Given the description of an element on the screen output the (x, y) to click on. 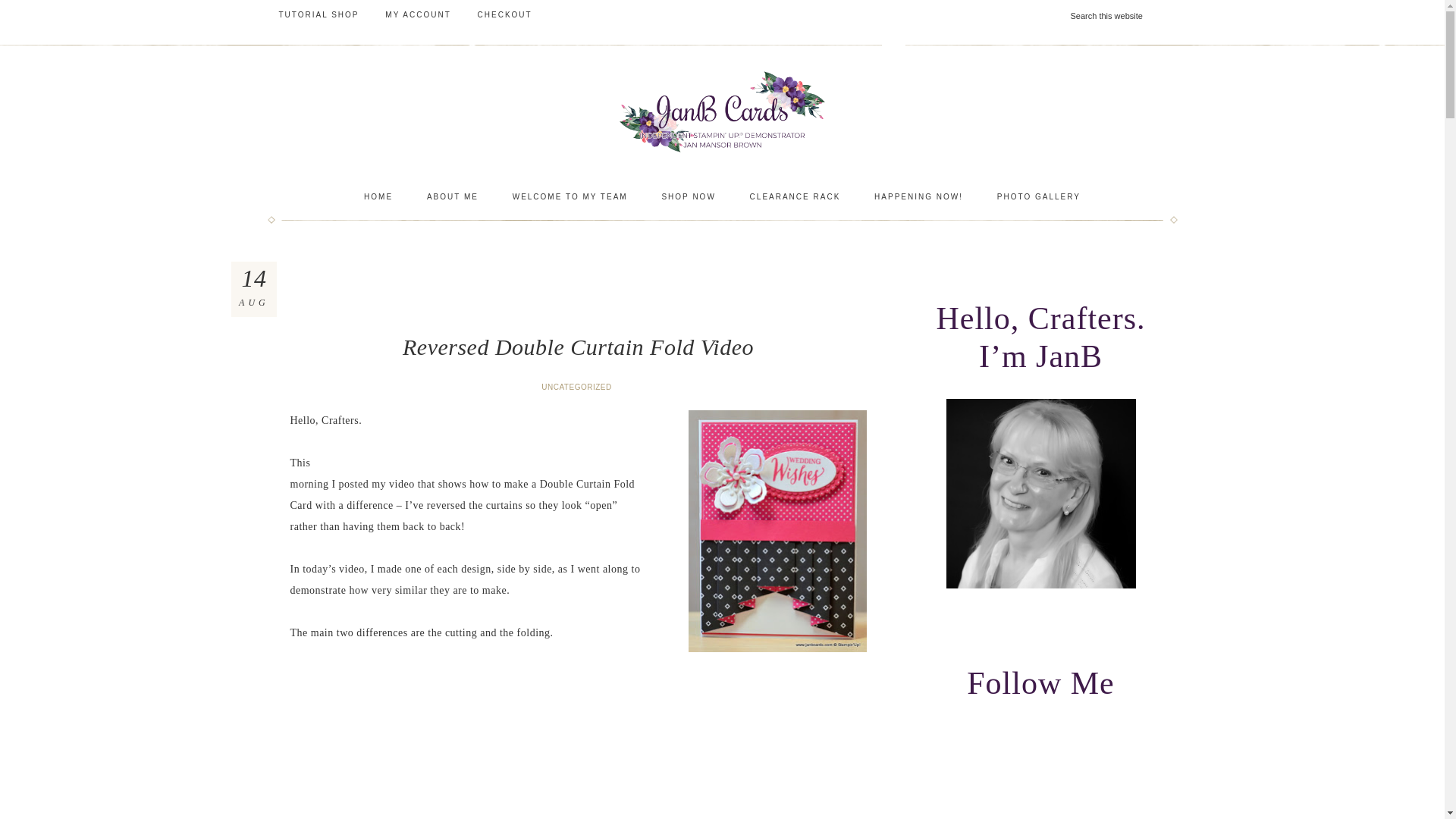
CLEARANCE RACK (795, 197)
CHECKOUT (504, 15)
UNCATEGORIZED (577, 387)
HAPPENING NOW! (918, 197)
PHOTO GALLERY (1038, 197)
HOME (378, 197)
SHOP NOW (688, 197)
MY ACCOUNT (418, 15)
TUTORIAL SHOP (317, 15)
ABOUT ME (452, 197)
